Given the description of an element on the screen output the (x, y) to click on. 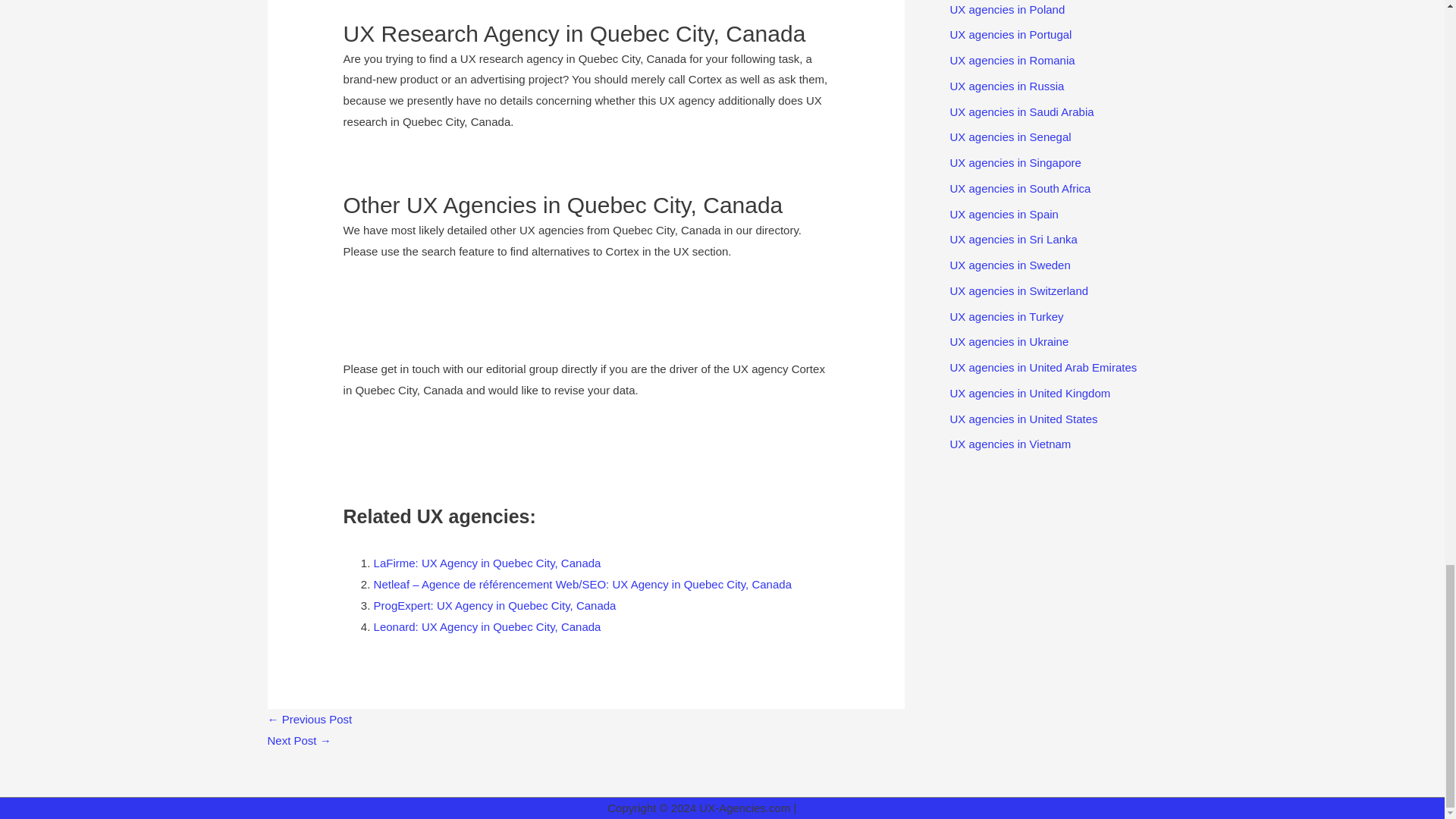
LaFirme: UX Agency in Quebec City, Canada (487, 562)
Leonard: UX Agency in Quebec City, Canada (487, 626)
Leonard: UX Agency in Quebec City, Canada (487, 626)
ProgExpert: UX Agency in Quebec City, Canada (494, 604)
LaFirme: UX Agency in Quebec City, Canada (487, 562)
ProgExpert: UX Agency in Quebec City, Canada (494, 604)
